Given the description of an element on the screen output the (x, y) to click on. 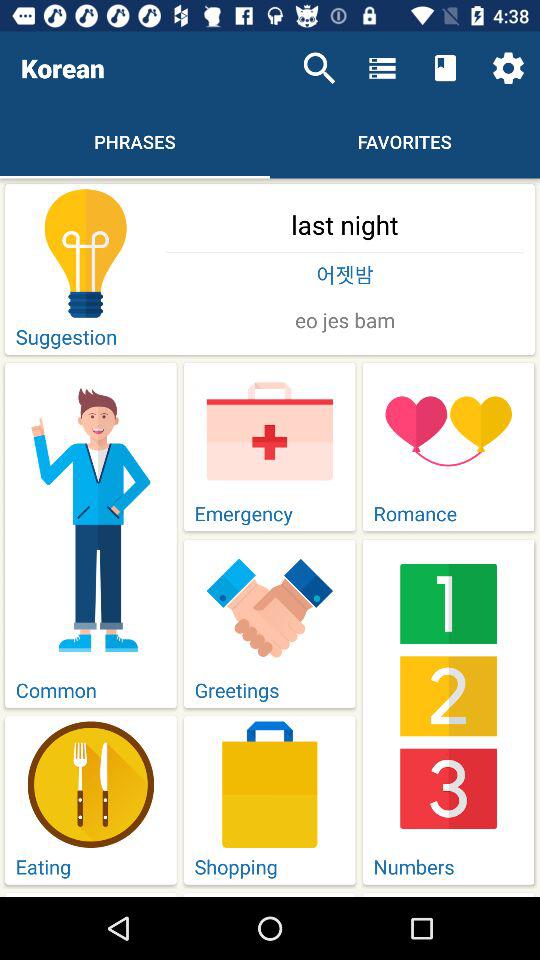
launch icon next to the korean (319, 67)
